Given the description of an element on the screen output the (x, y) to click on. 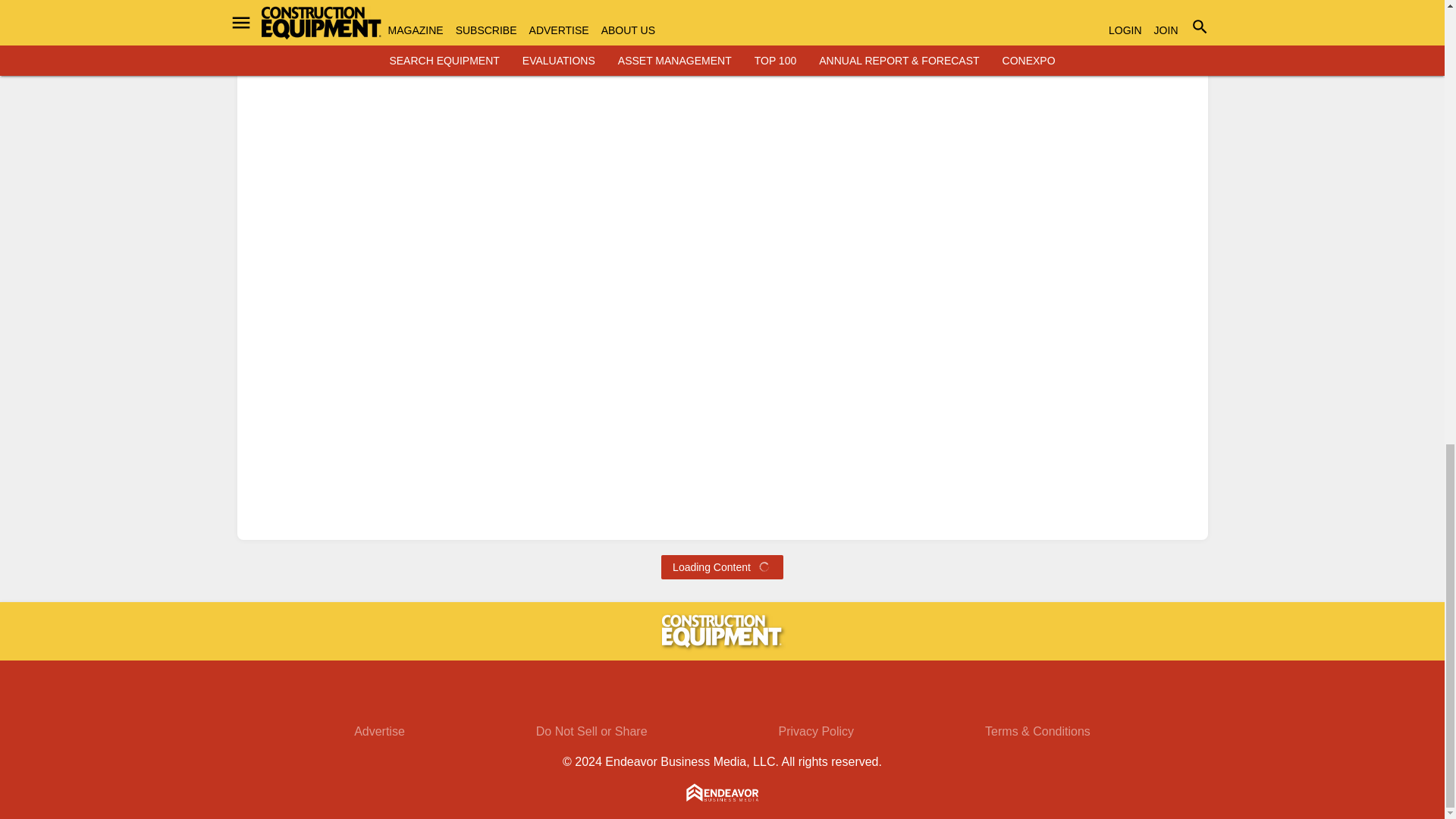
Ram-HD-pickup-truck-with-trailer (1136, 31)
